Given the description of an element on the screen output the (x, y) to click on. 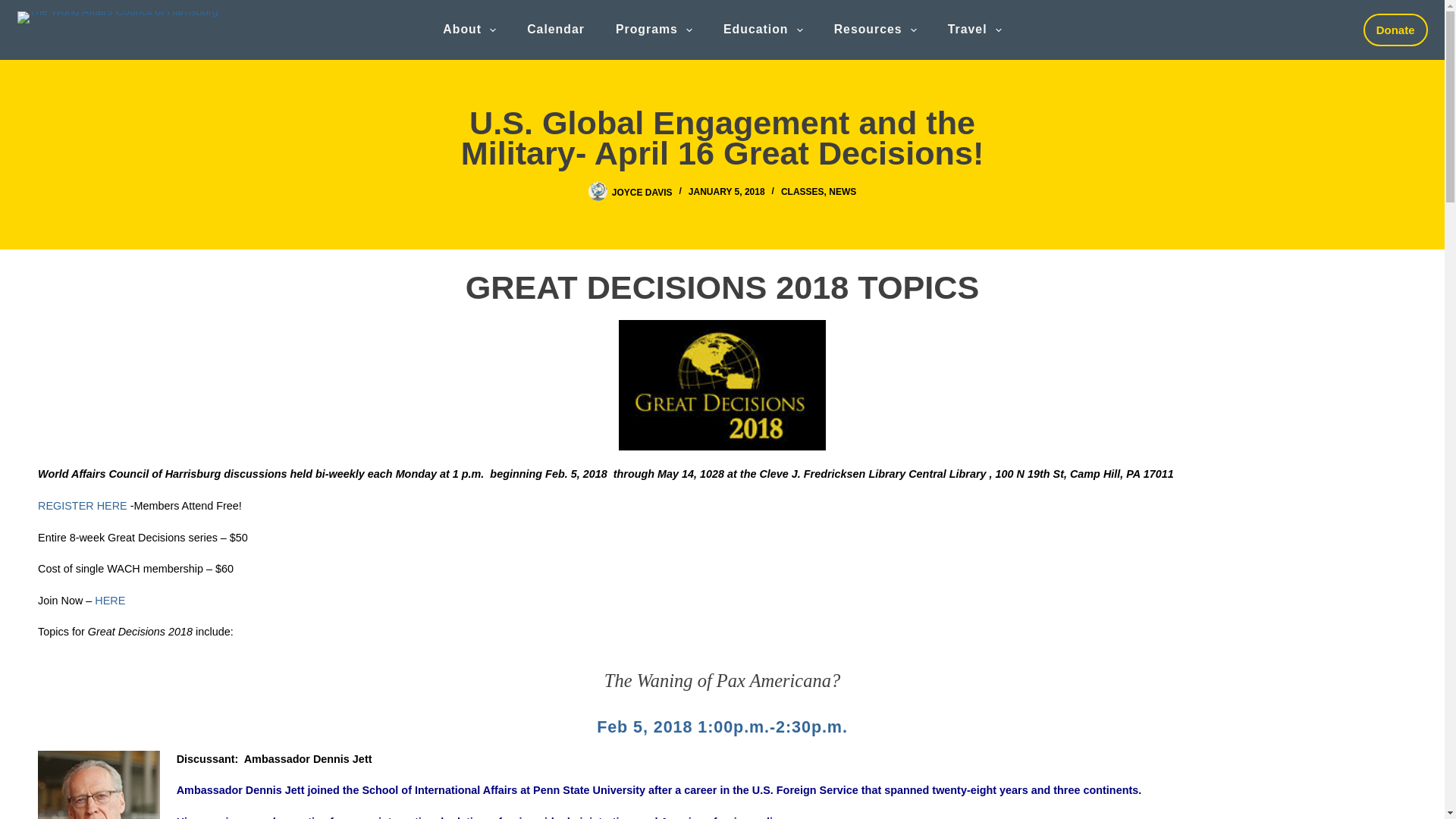
Skip to content (15, 7)
Posts by Joyce Davis (641, 191)
About (469, 29)
